Given the description of an element on the screen output the (x, y) to click on. 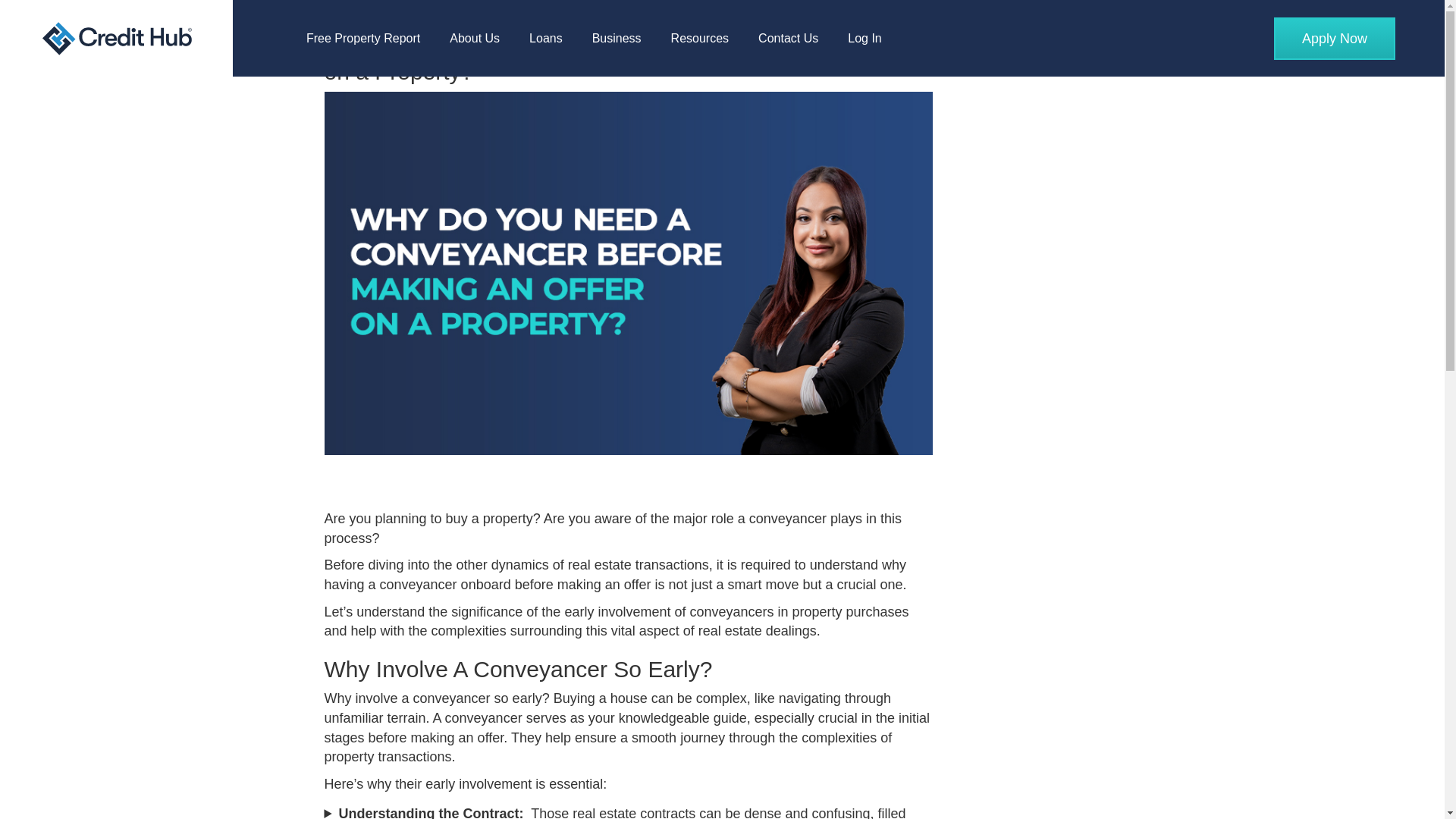
Apply Now (1334, 37)
Free Property Report (362, 38)
Resources (700, 38)
About Us (474, 38)
Loans (545, 38)
Log In (863, 38)
Contact Us (788, 38)
Business (617, 38)
